Given the description of an element on the screen output the (x, y) to click on. 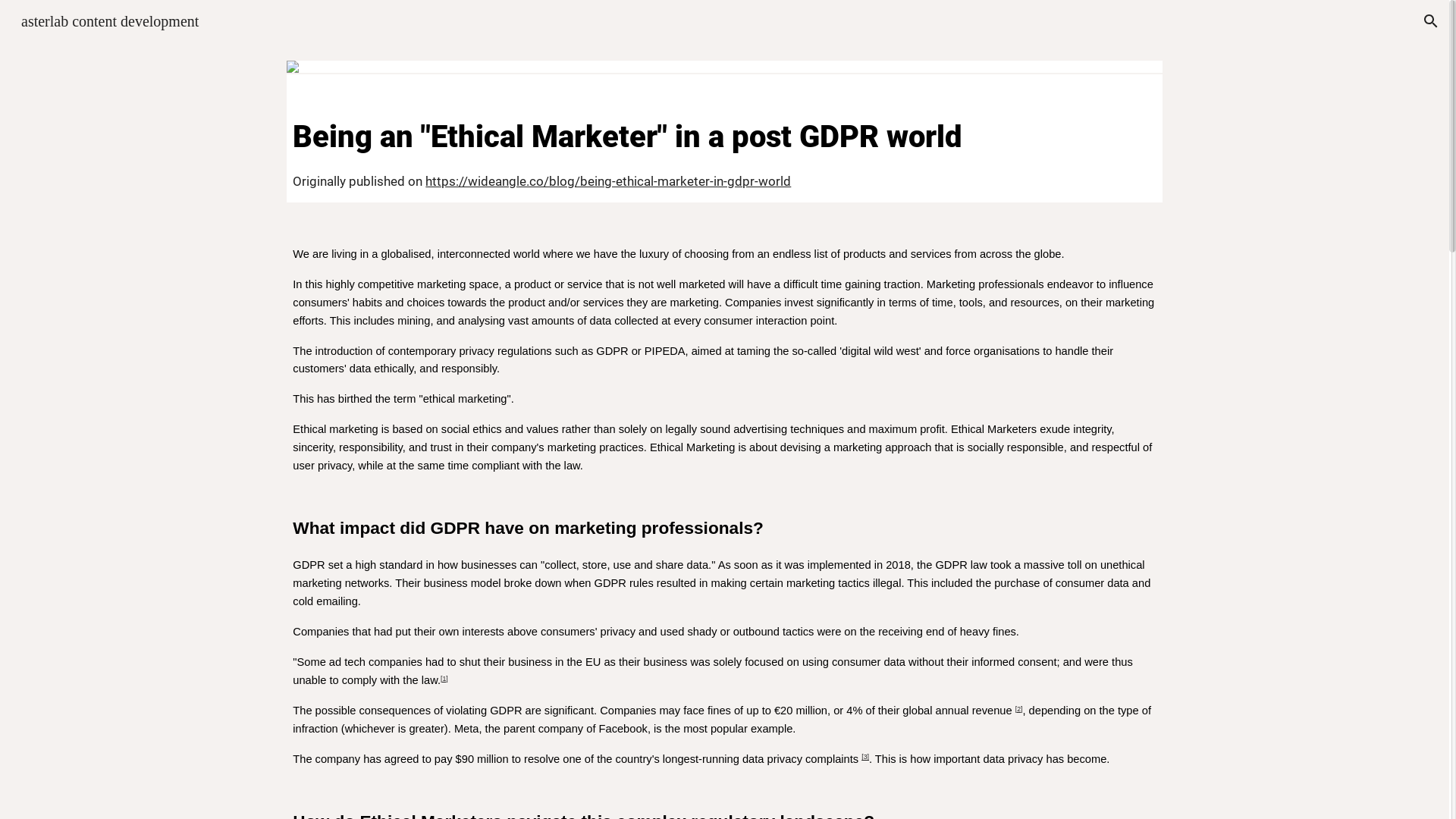
  Element type: text (1013, 710)
asterlab content development Element type: text (109, 19)
  Element type: text (859, 759)
[2] Element type: text (1018, 708)
[3] Element type: text (865, 756)
[1] Element type: text (444, 678)
